Given the description of an element on the screen output the (x, y) to click on. 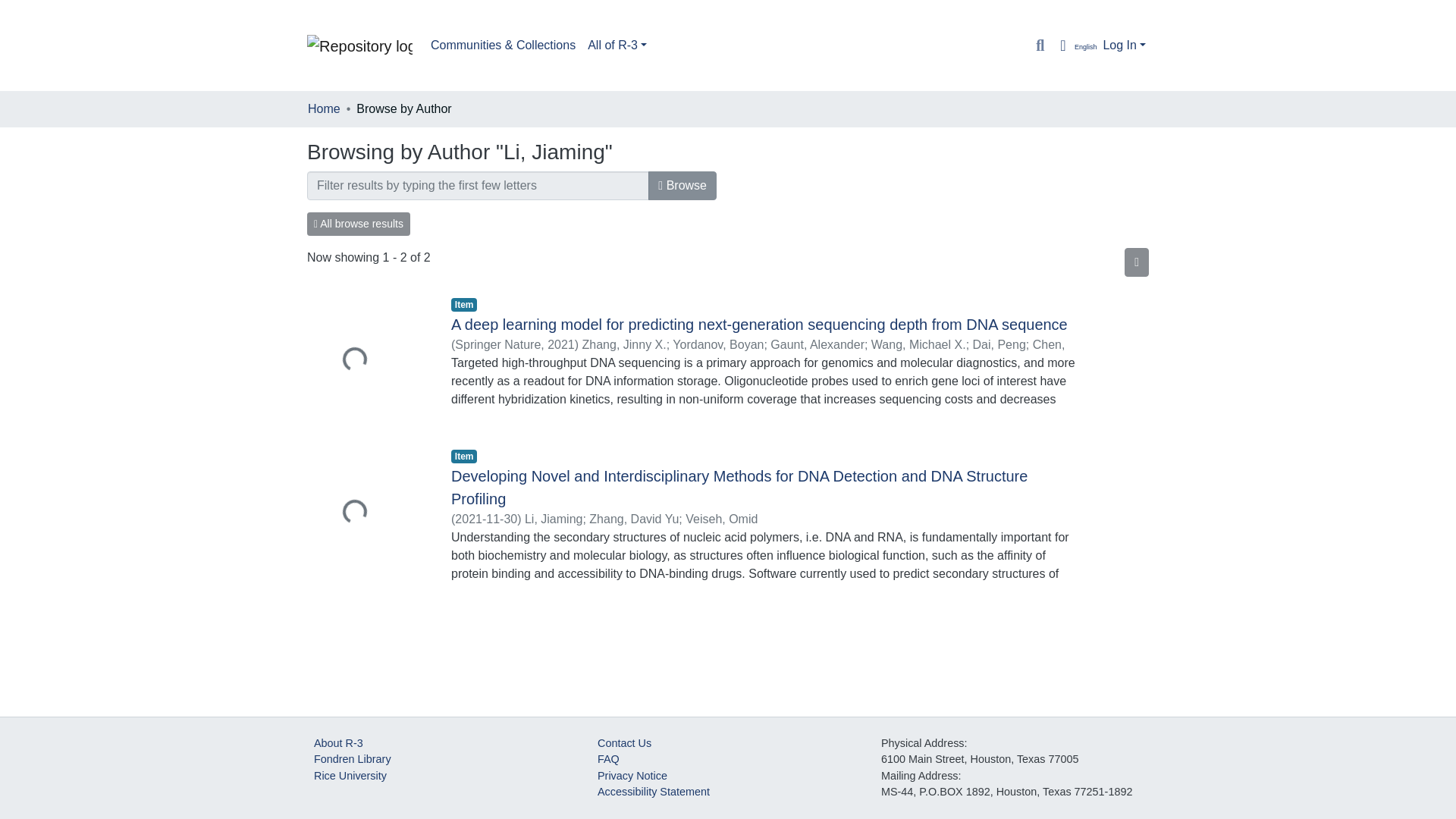
All browse results (358, 223)
Log In (1123, 44)
All of R-3 (616, 45)
English (1074, 45)
Loading... (367, 513)
Fondren Library (352, 758)
Language switch (1074, 45)
Search (1039, 45)
About R-3 (338, 743)
Home (323, 108)
Loading... (367, 361)
Browse (681, 185)
